Given the description of an element on the screen output the (x, y) to click on. 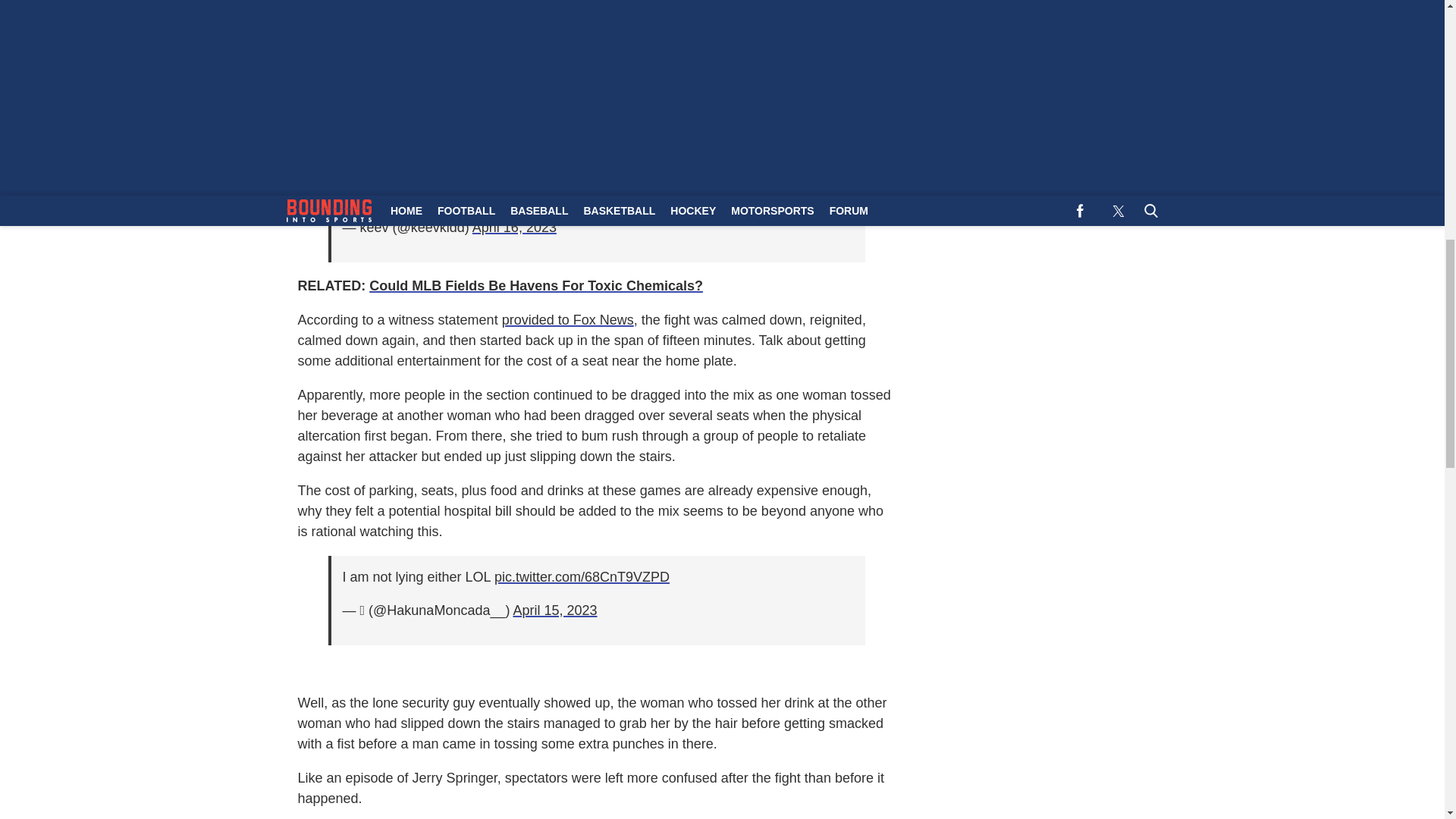
provided to Fox News (567, 319)
April 15, 2023 (554, 610)
April 16, 2023 (513, 227)
Could MLB Fields Be Havens For Toxic Chemicals? (536, 285)
